Given the description of an element on the screen output the (x, y) to click on. 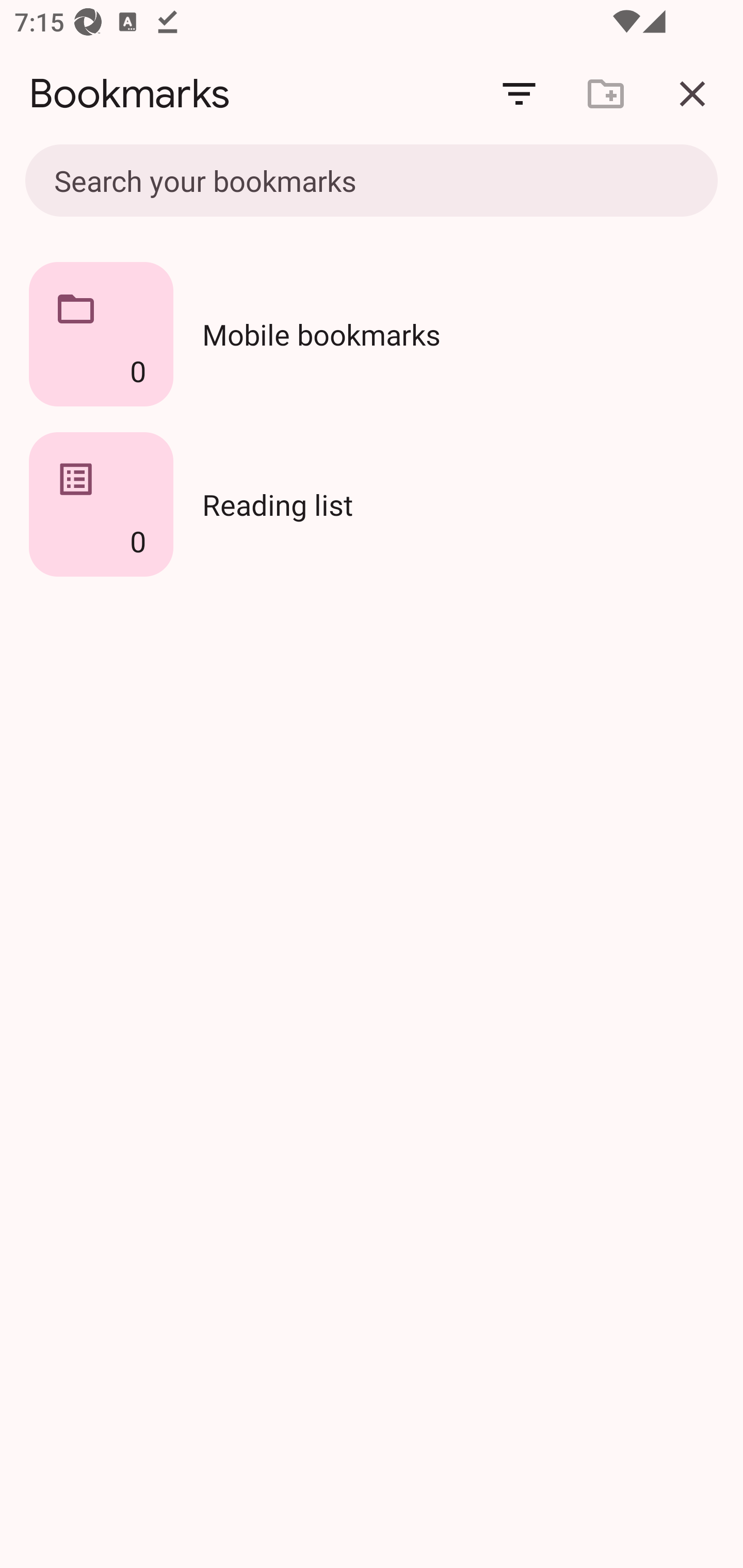
Sort and view options (518, 93)
Create new folder (605, 93)
Close dialog (692, 93)
Search your bookmarks (371, 181)
Mobile bookmarks No bookmarks 0 Mobile bookmarks (371, 333)
Reading list No unread pages 0 Reading list (371, 503)
